Given the description of an element on the screen output the (x, y) to click on. 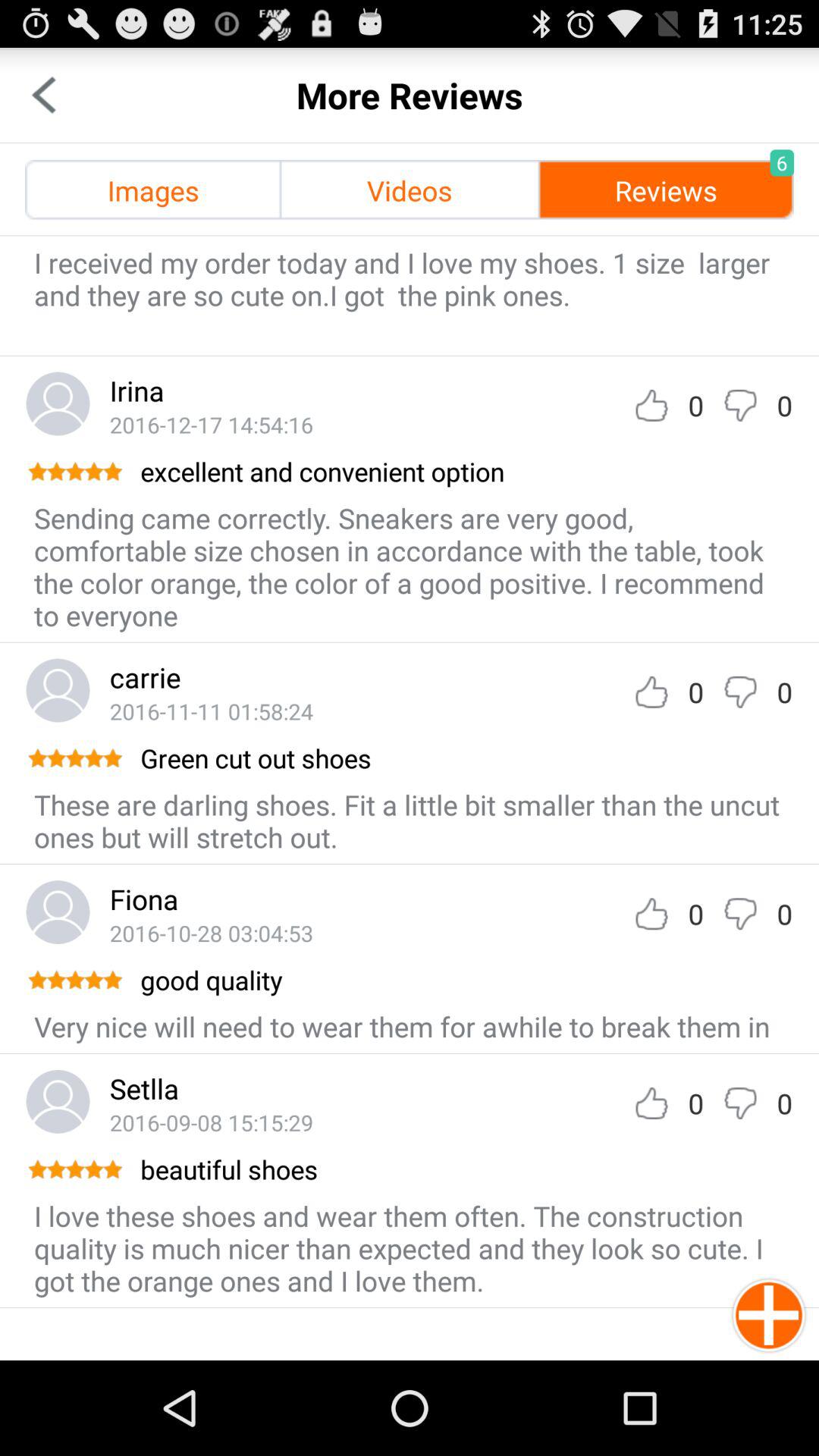
scroll until 2016 11 11 (211, 711)
